Given the description of an element on the screen output the (x, y) to click on. 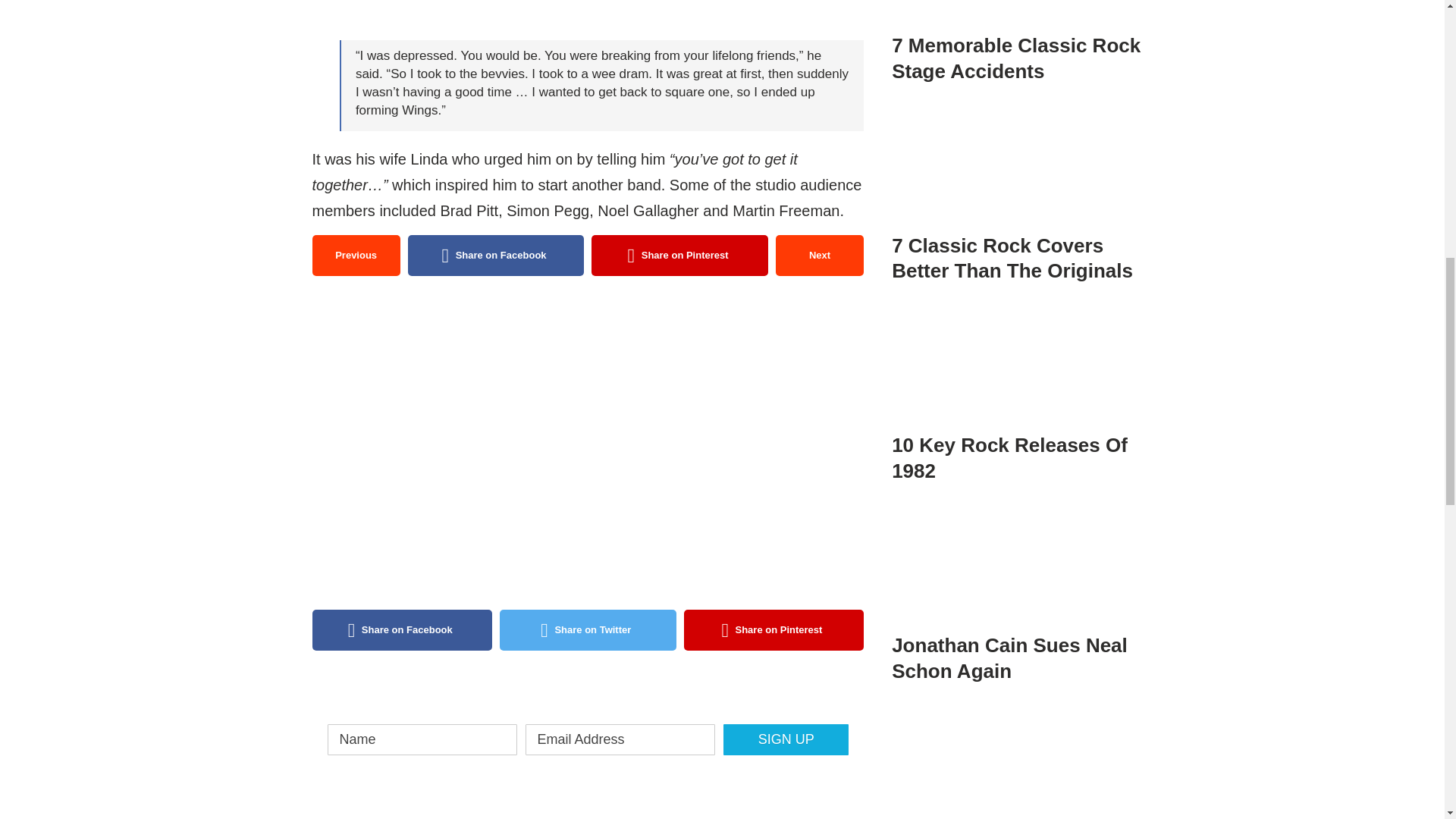
7 Classic Rock Covers Better Than the Originals (1019, 166)
Sign Up (785, 739)
7 Memorable Classic Rock Stage Accidents (1019, 13)
7 Memorable Classic Rock Stage Accidents (1019, 28)
Share on Pinterest (679, 255)
7 Classic Rock Covers Better Than the Originals (1019, 189)
7 Memorable Classic Rock Stage Accidents (1015, 58)
Share on Pinterest (774, 629)
